Given the description of an element on the screen output the (x, y) to click on. 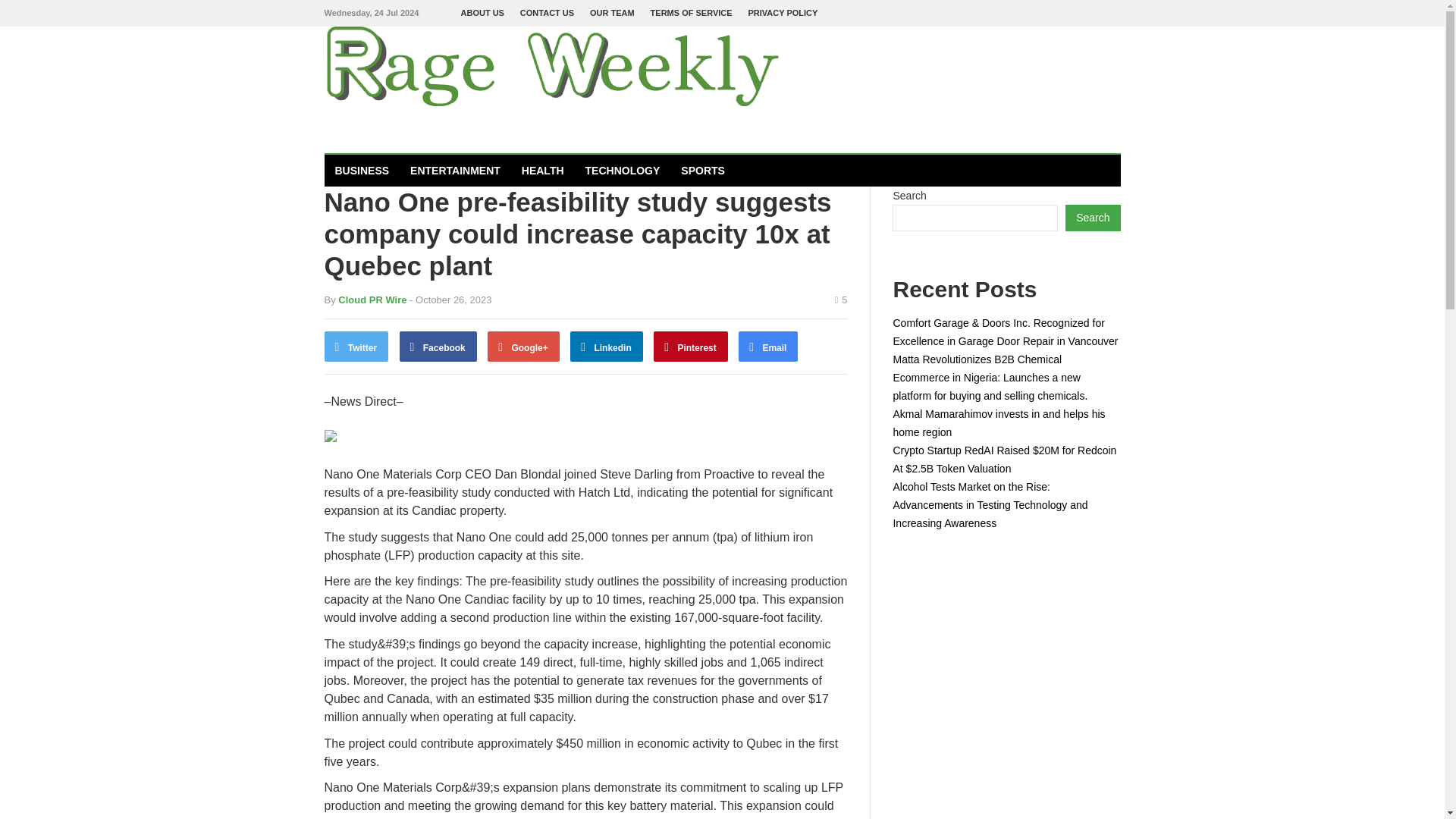
BUSINESS (362, 170)
Email (767, 346)
SPORTS (702, 170)
CONTACT US (546, 13)
Thursday, October 26, 2023, 3:33 pm (450, 299)
OUR TEAM (611, 13)
Twitter (356, 346)
PRIVACY POLICY (782, 13)
Facebook (437, 346)
Pinterest (690, 346)
TERMS OF SERVICE (691, 13)
HEALTH (543, 170)
TECHNOLOGY (623, 170)
ABOUT US (482, 13)
Linkedin (606, 346)
